Given the description of an element on the screen output the (x, y) to click on. 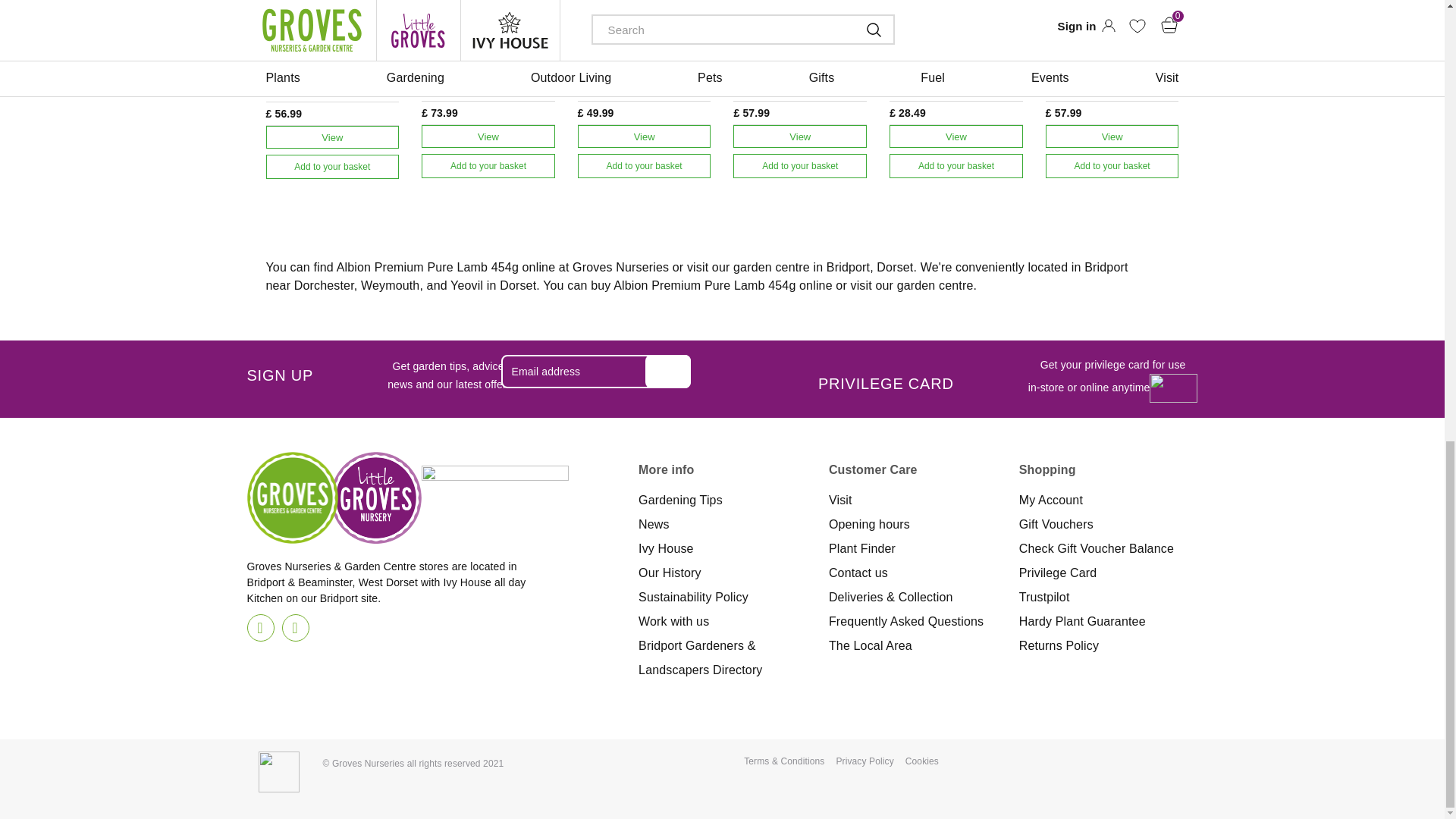
Send Message (667, 371)
